Given the description of an element on the screen output the (x, y) to click on. 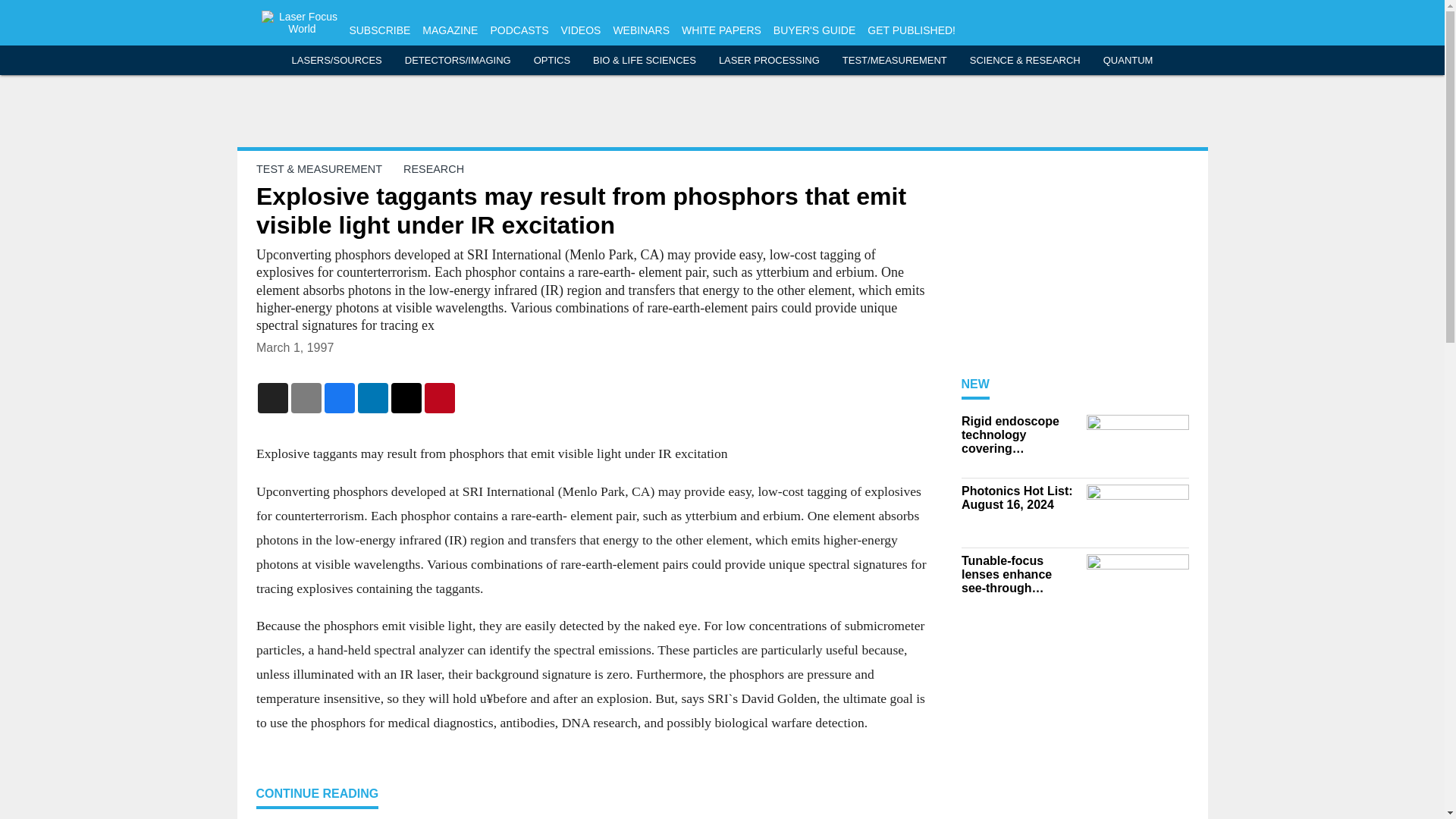
MAGAZINE (449, 30)
GET PUBLISHED! (911, 30)
SUBSCRIBE (379, 30)
OPTICS (552, 60)
VIDEOS (579, 30)
QUANTUM (1128, 60)
WHITE PAPERS (721, 30)
BUYER'S GUIDE (814, 30)
WEBINARS (640, 30)
LASER PROCESSING (769, 60)
